Given the description of an element on the screen output the (x, y) to click on. 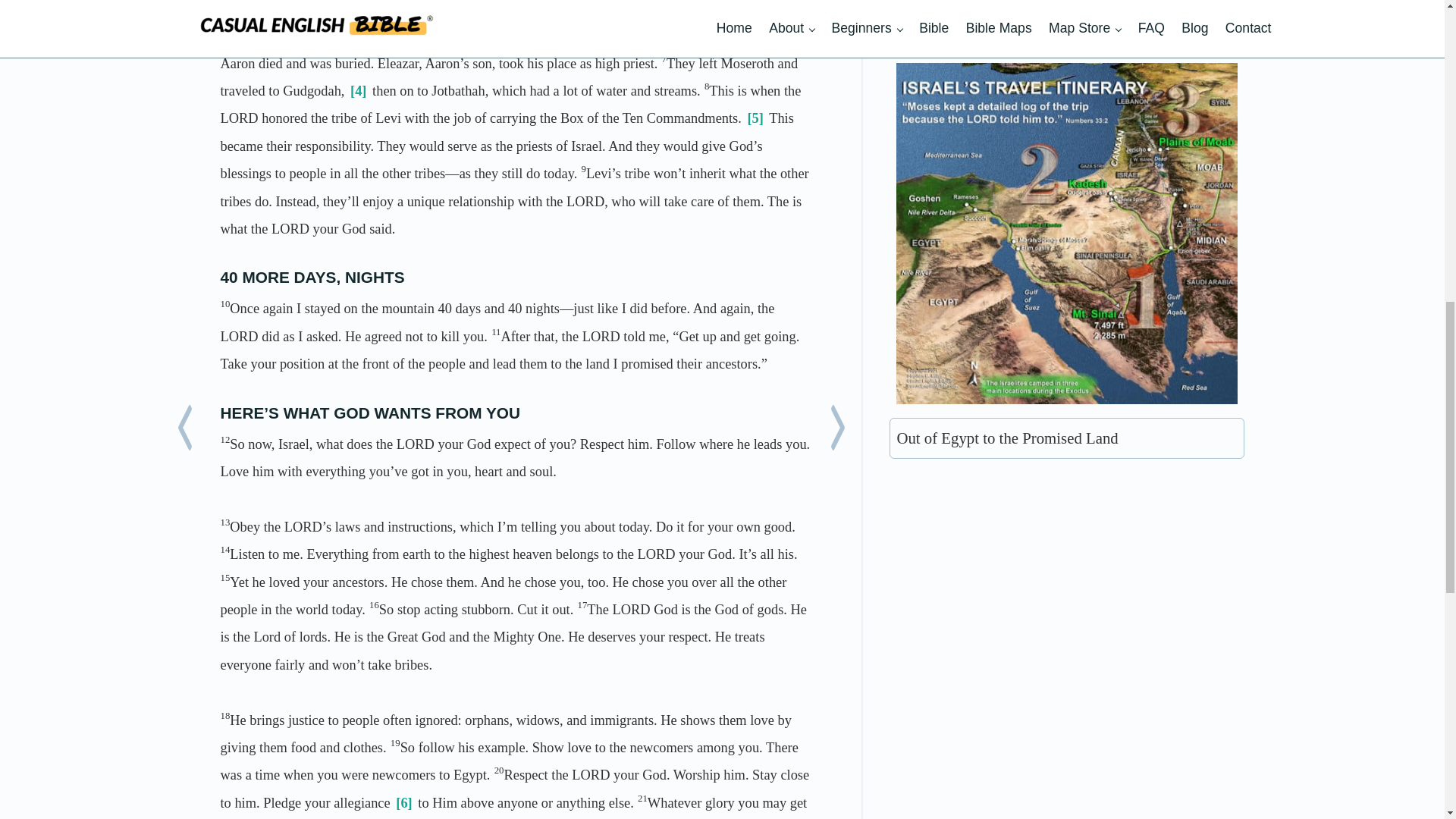
Map: Desert road to Promised Land (1066, 654)
Map: Map of Exodus: Out of Egypt to the Promised Land (1066, 233)
